Given the description of an element on the screen output the (x, y) to click on. 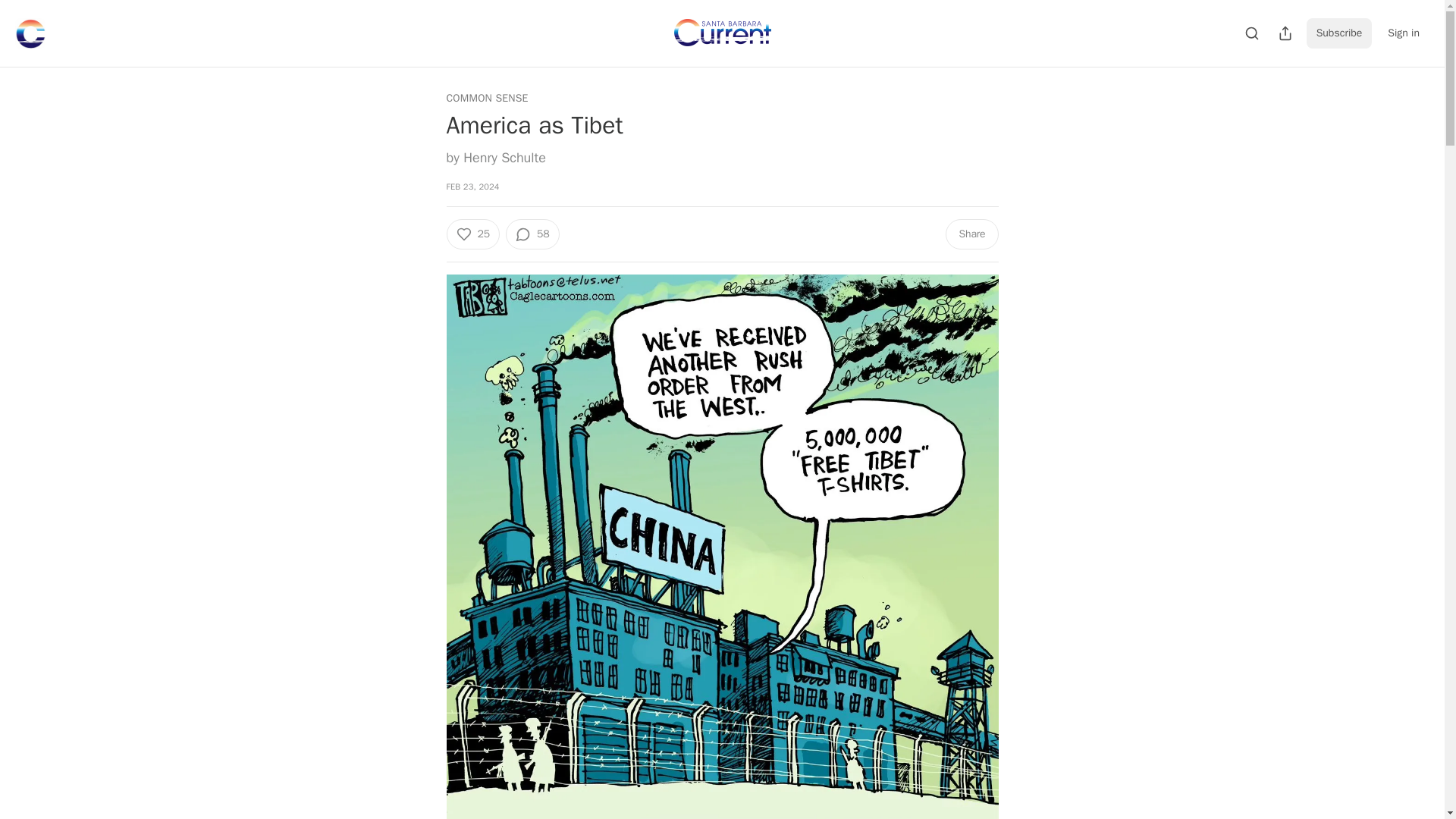
58 (532, 234)
Subscribe (1339, 33)
25 (472, 234)
COMMON SENSE (486, 98)
Share (970, 234)
Sign in (1403, 33)
